Given the description of an element on the screen output the (x, y) to click on. 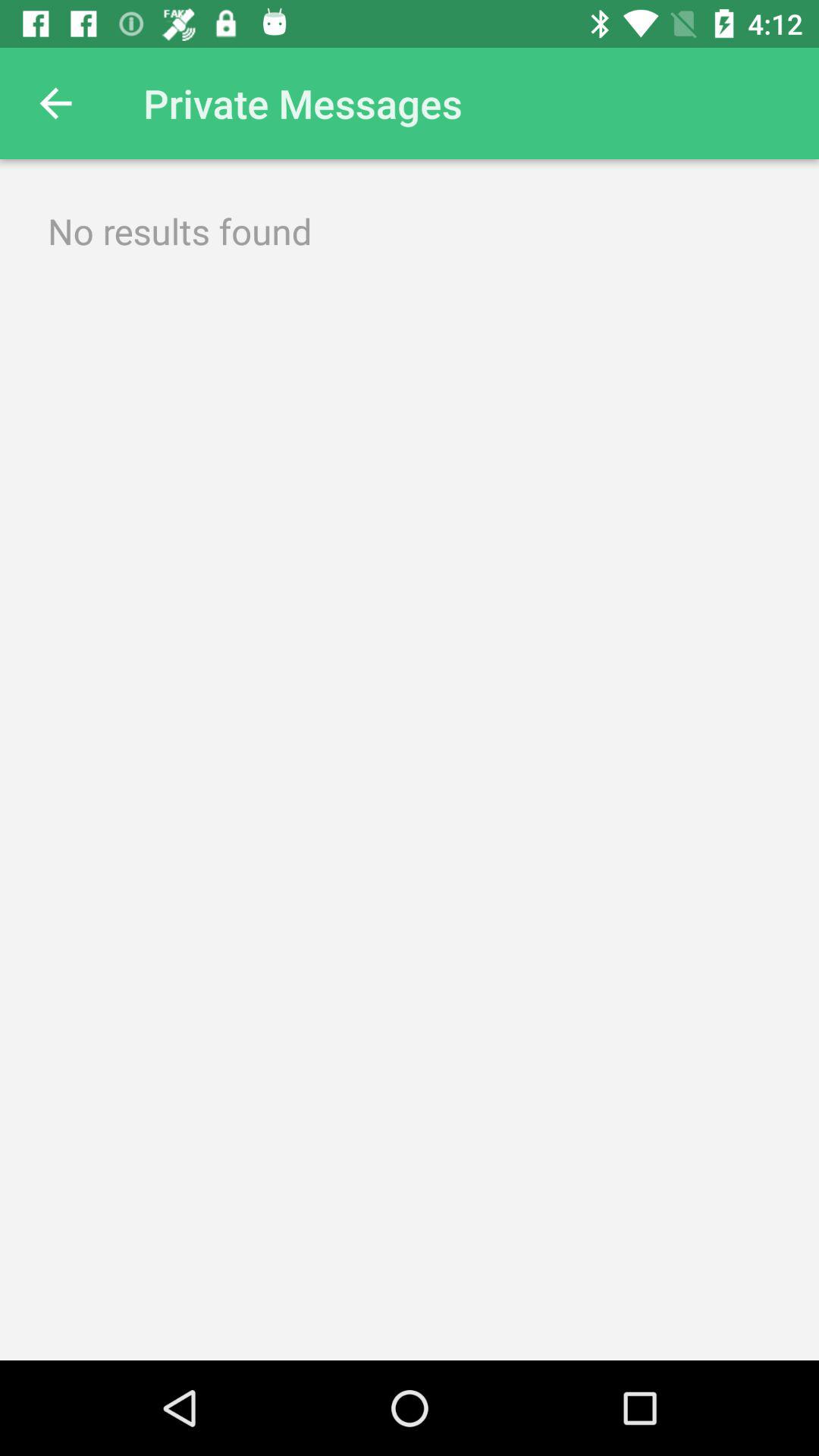
turn on the item next to the private messages (55, 103)
